Given the description of an element on the screen output the (x, y) to click on. 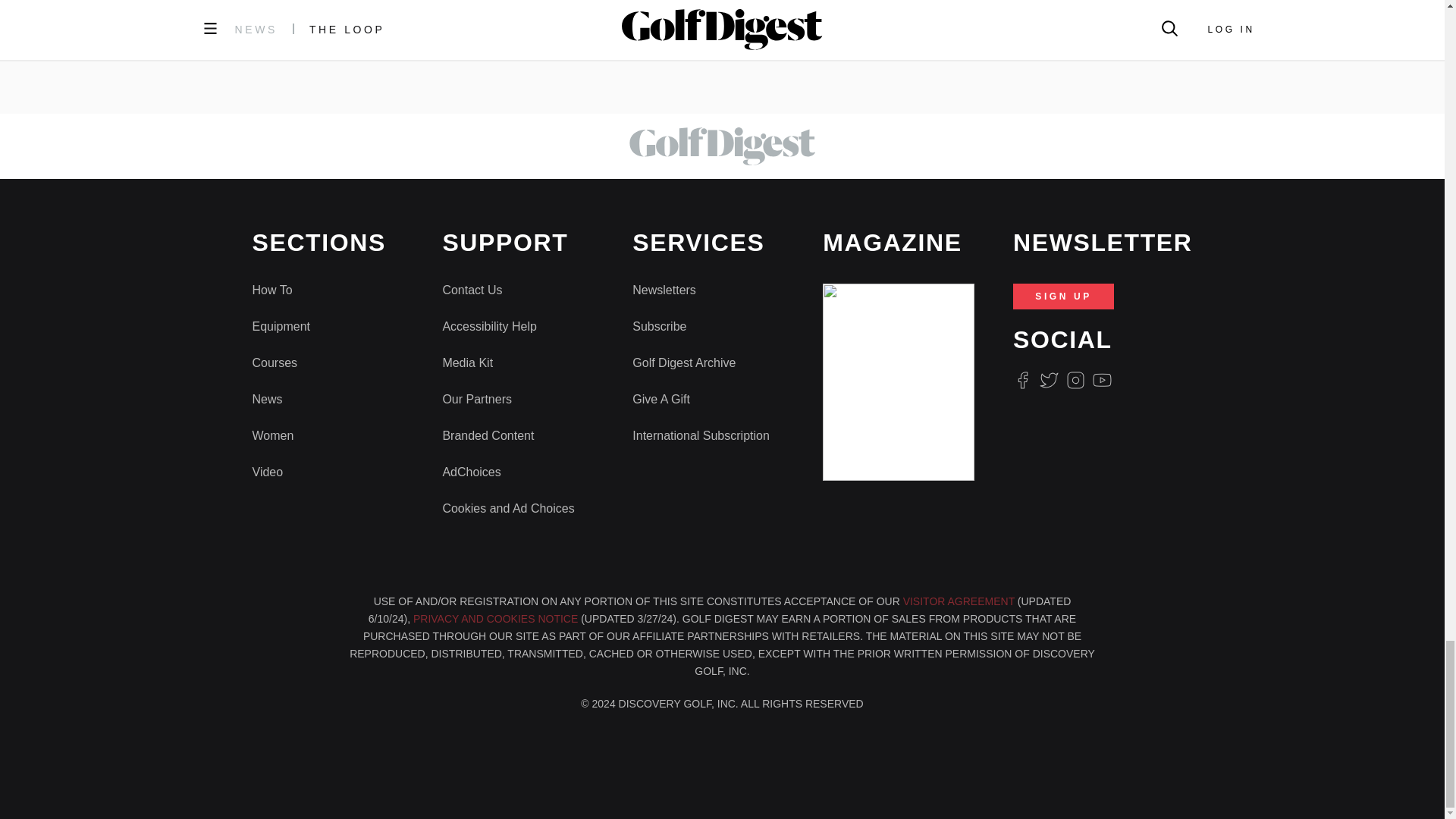
Youtube Icon (1102, 380)
Twitter Logo (1048, 380)
Facebook Logo (1022, 380)
Instagram Logo (1074, 380)
